Given the description of an element on the screen output the (x, y) to click on. 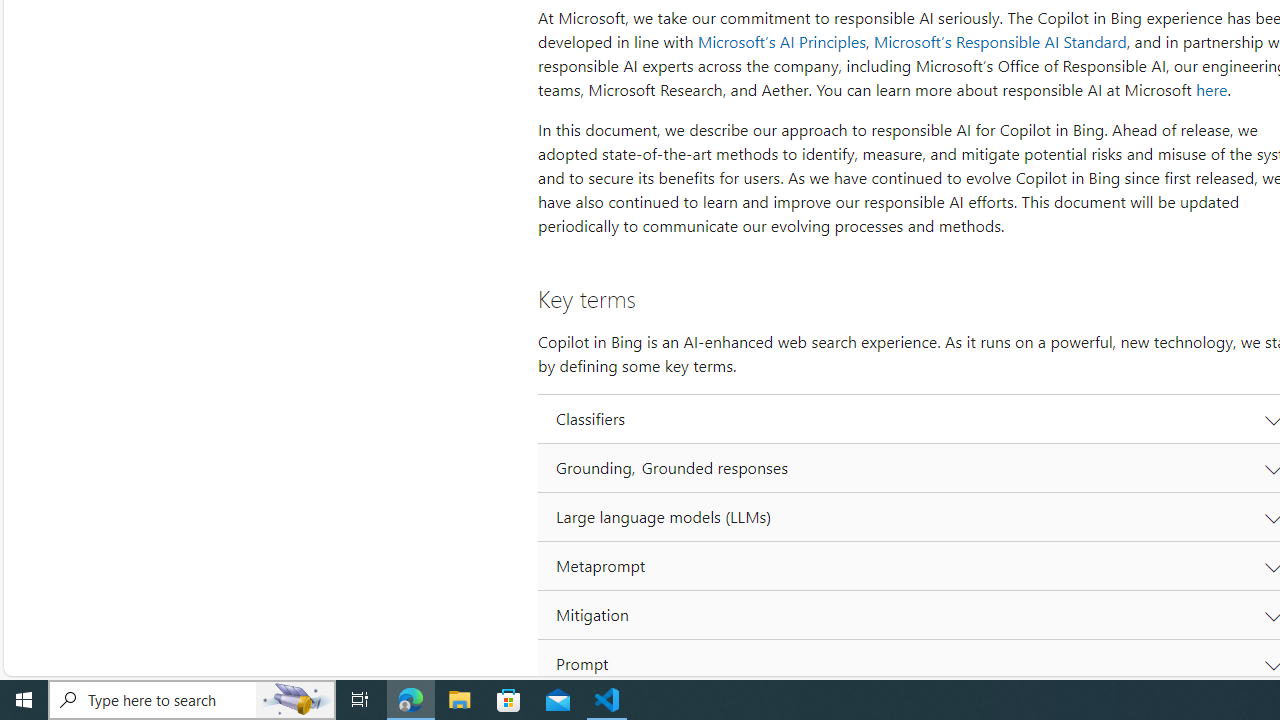
here (1211, 89)
